Given the description of an element on the screen output the (x, y) to click on. 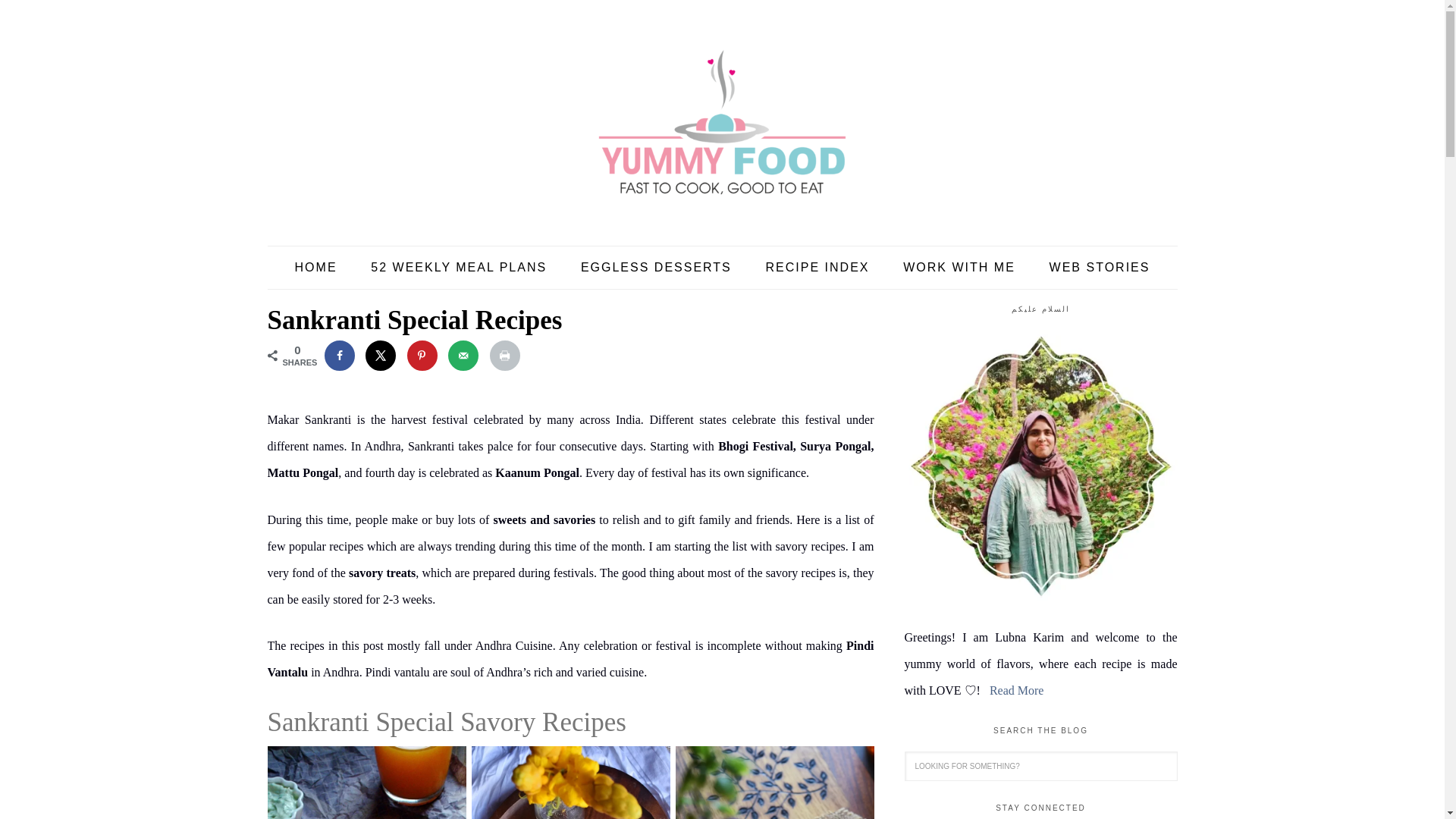
Print this webpage (504, 355)
EGGLESS DESSERTS (656, 267)
Send over email (463, 355)
Save to Pinterest (421, 355)
RECIPE INDEX (818, 267)
Share on X (380, 355)
52 WEEKLY MEAL PLANS (458, 267)
WEB STORIES (1099, 267)
